Given the description of an element on the screen output the (x, y) to click on. 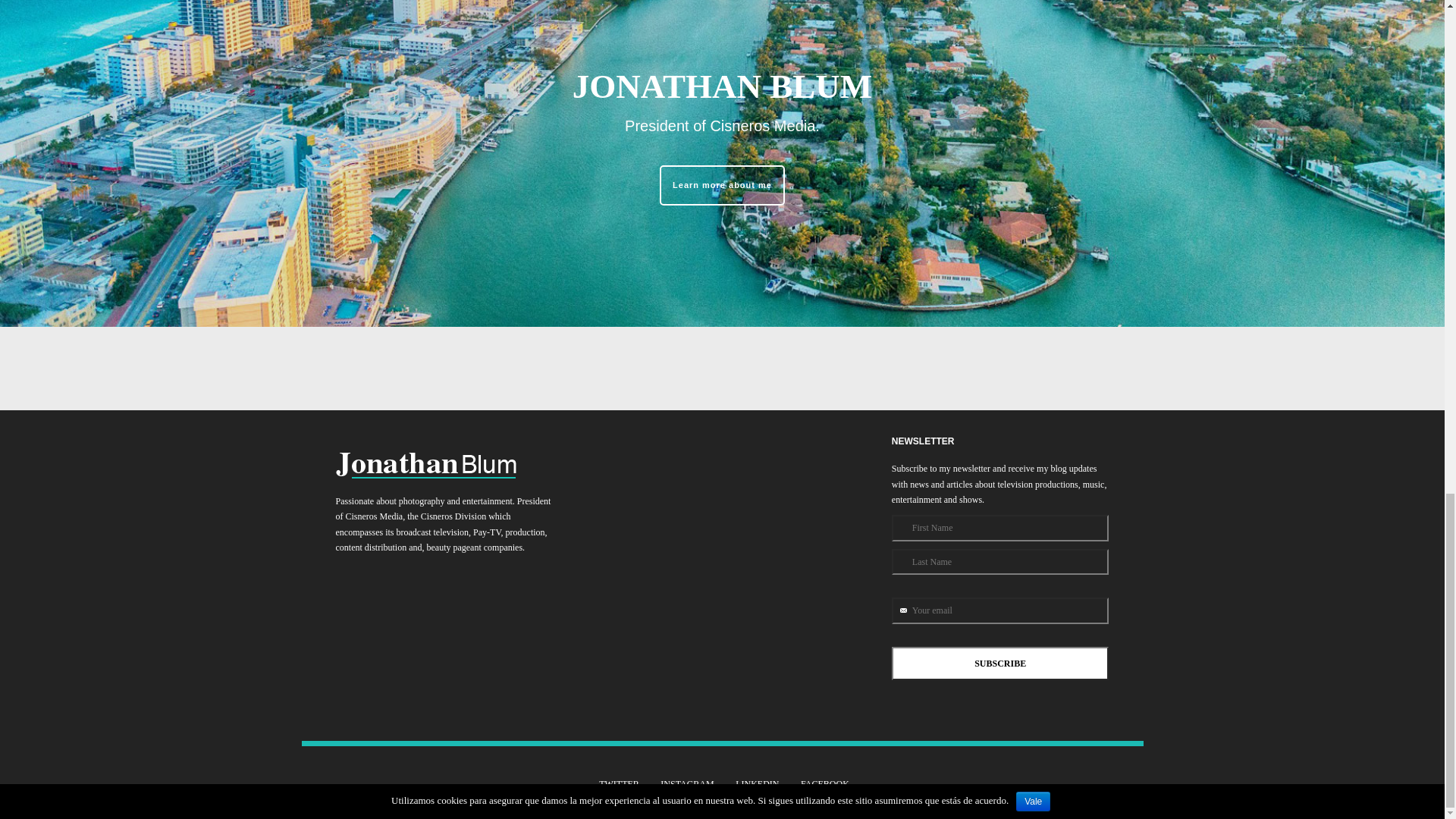
Subscribe (1000, 663)
Homepage (424, 473)
